Given the description of an element on the screen output the (x, y) to click on. 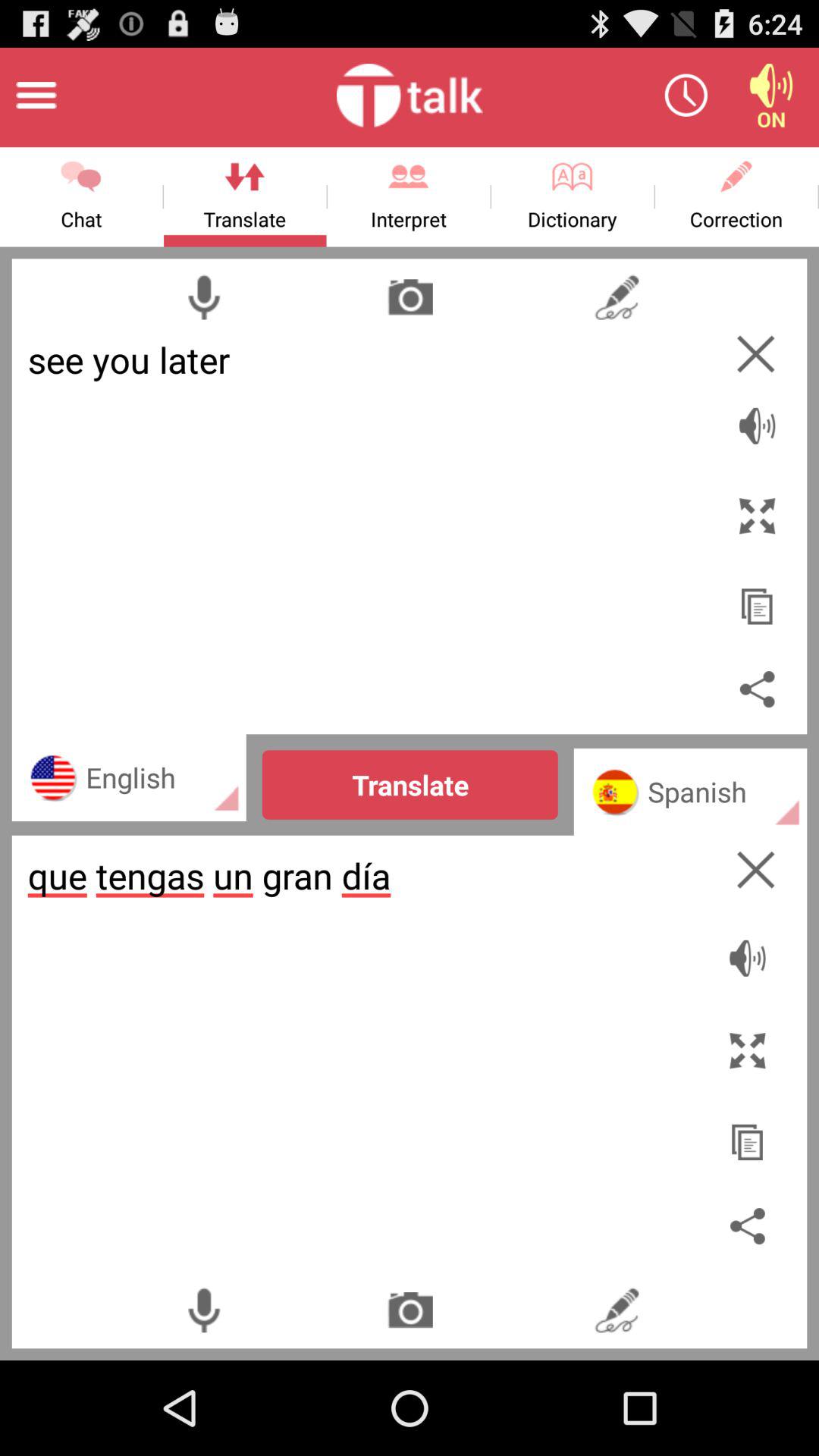
translate from photo (410, 297)
